Given the description of an element on the screen output the (x, y) to click on. 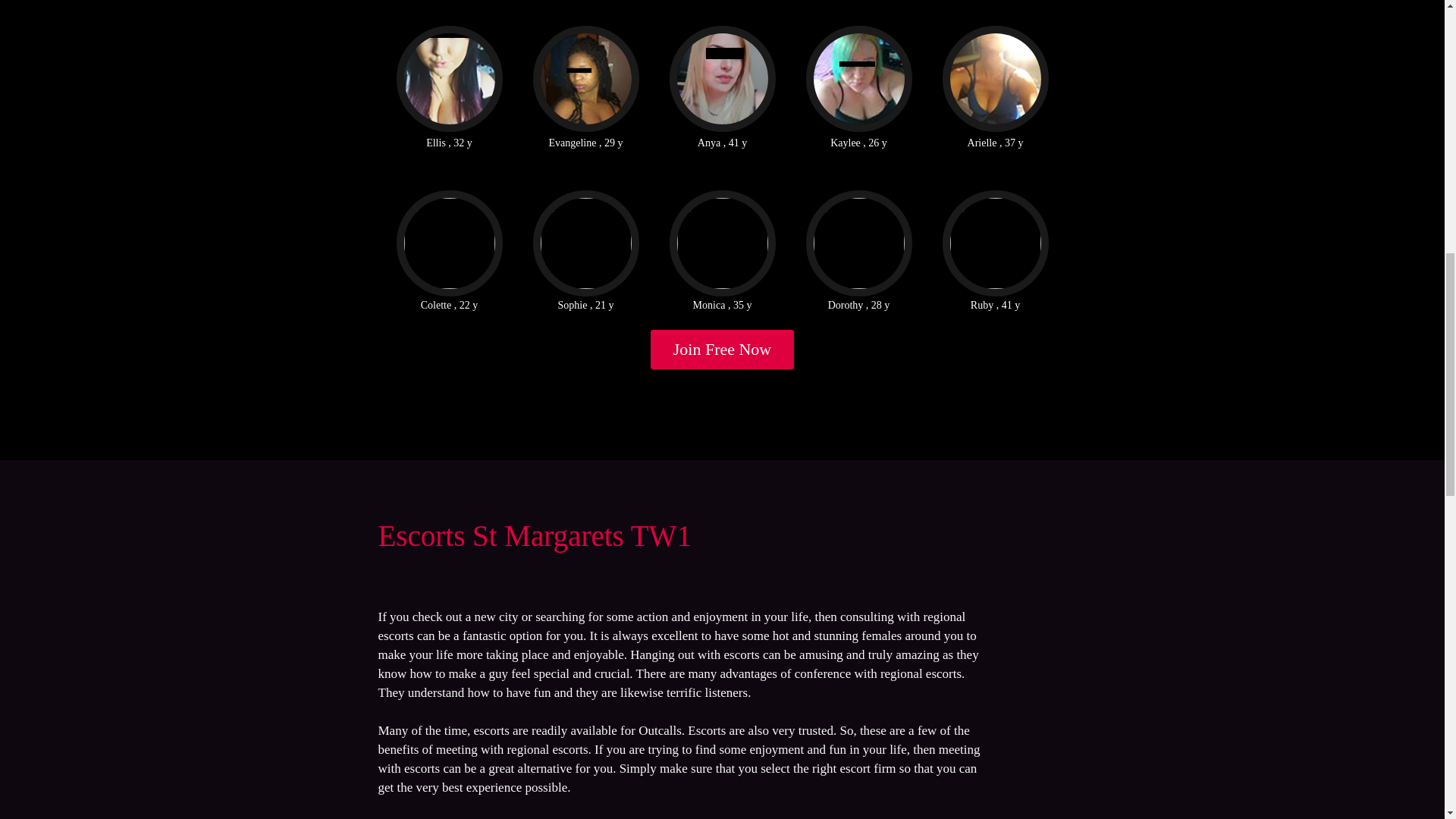
Join (722, 349)
Join Free Now (722, 349)
Escorts St Margarets TW1 (533, 535)
